Given the description of an element on the screen output the (x, y) to click on. 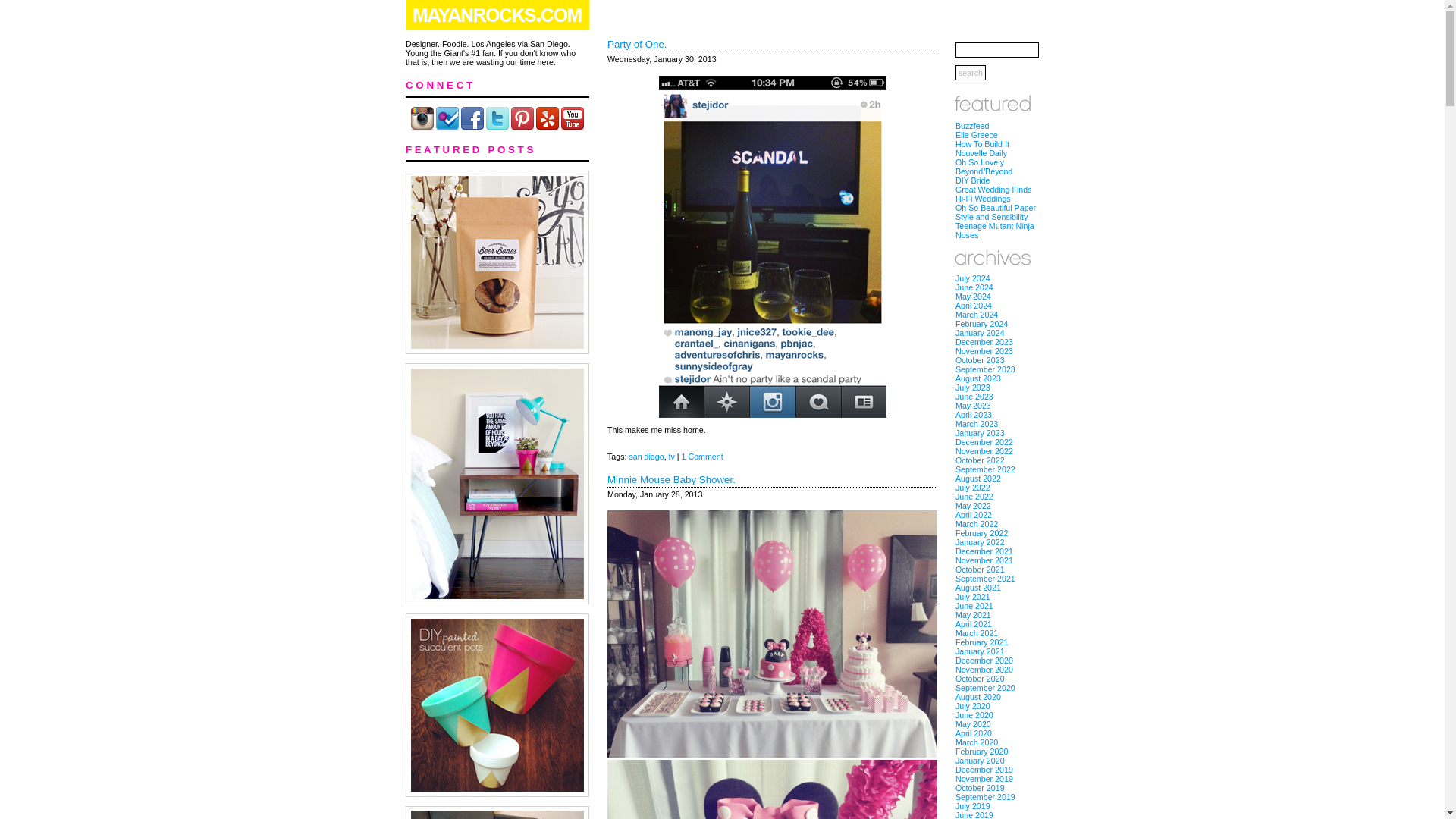
search (970, 72)
san diego (645, 456)
Minnie Mouse Baby Shower. (671, 479)
1 Comment (702, 456)
Party of One. (636, 43)
